Given the description of an element on the screen output the (x, y) to click on. 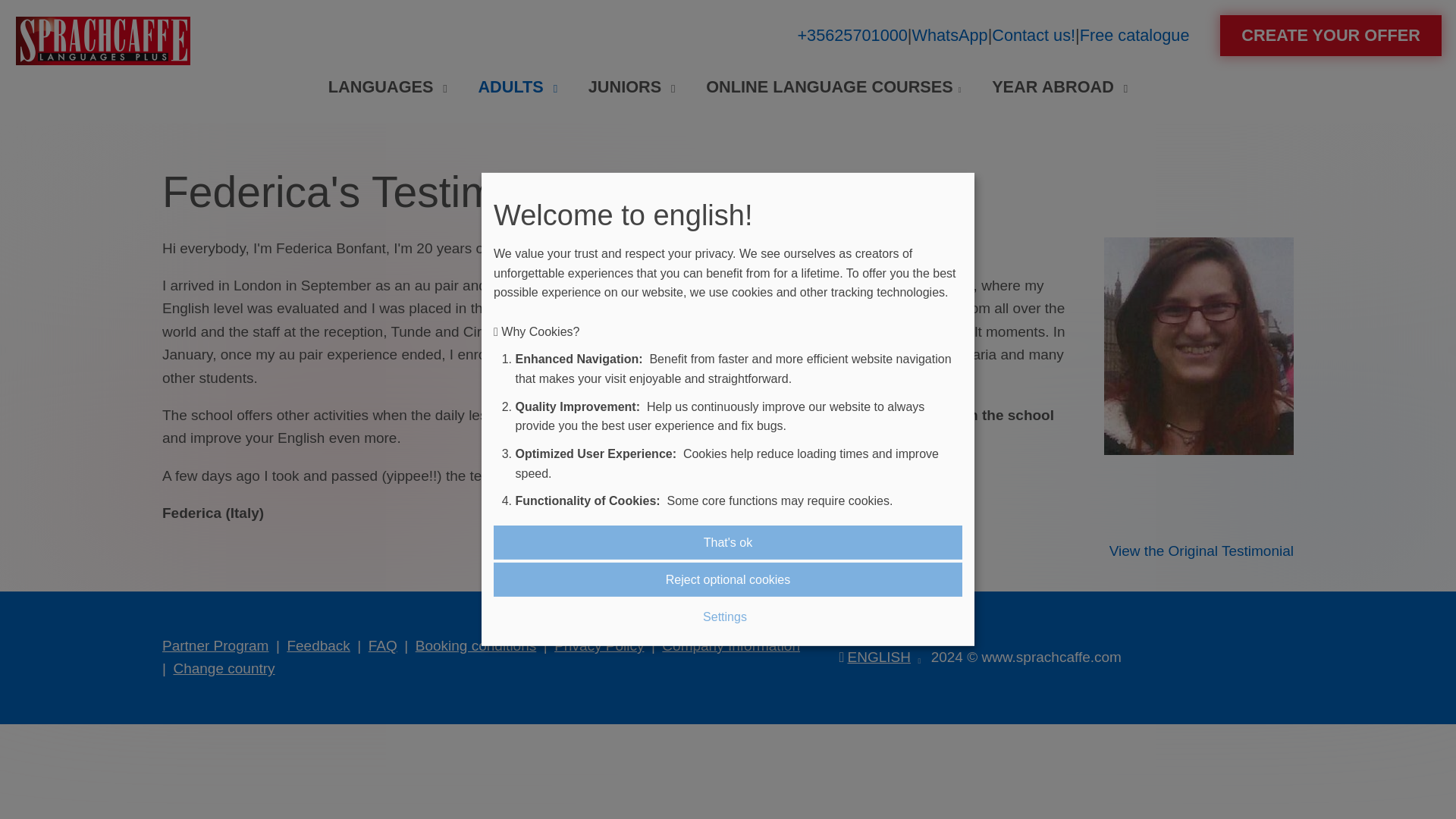
ADULTS (517, 86)
Free catalogue (1134, 35)
CREATE YOUR OFFER (1330, 35)
Study languages abroad (387, 86)
Contact Us (1033, 35)
Book a language course online (1330, 35)
LANGUAGES (387, 86)
Contact us! (1033, 35)
WhatsApp (949, 35)
